Given the description of an element on the screen output the (x, y) to click on. 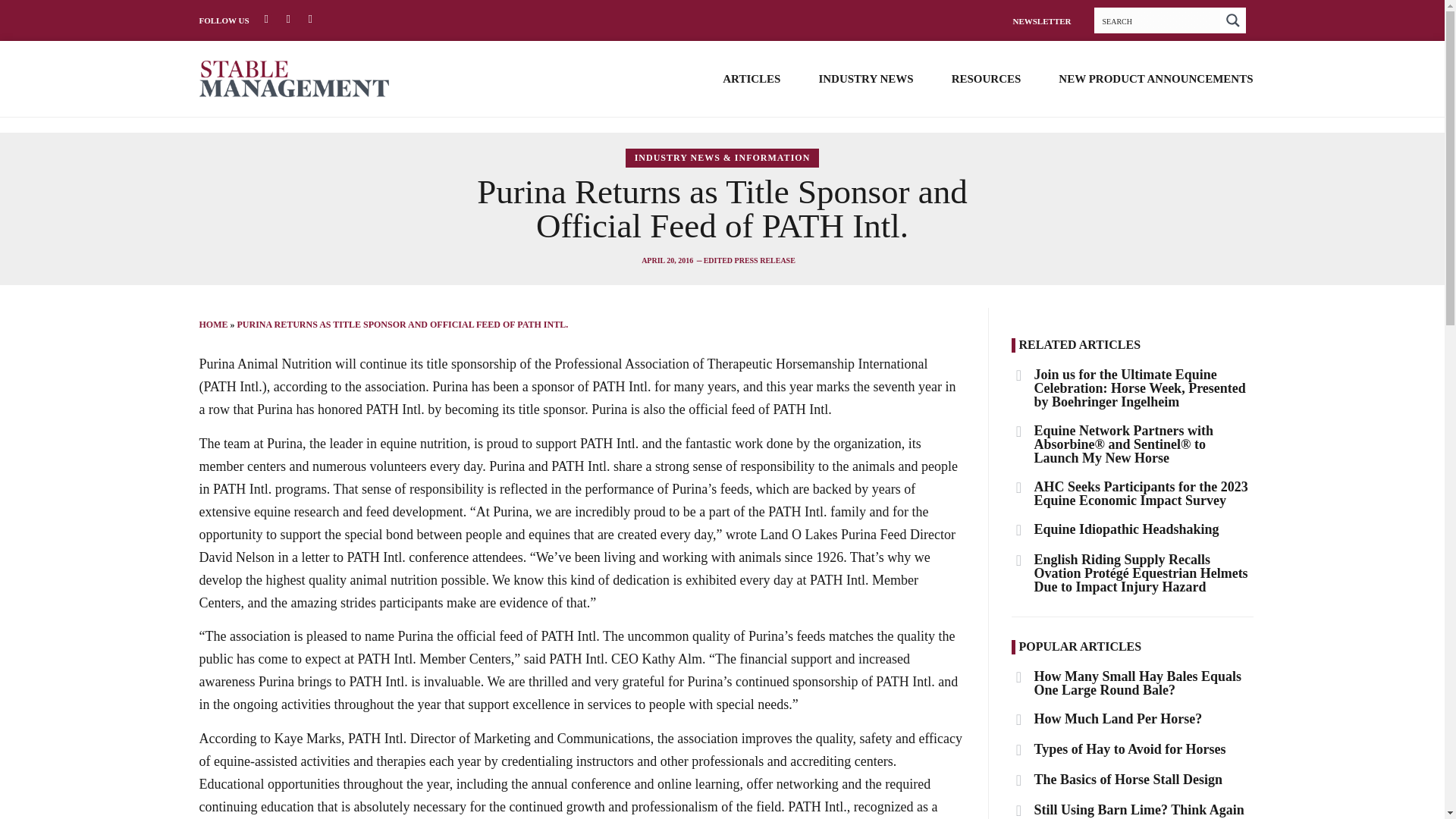
RESOURCES (987, 78)
NEWSLETTER (1040, 20)
INDUSTRY NEWS (865, 78)
ARTICLES (751, 78)
NEW PRODUCT ANNOUNCEMENTS (1155, 78)
